Given the description of an element on the screen output the (x, y) to click on. 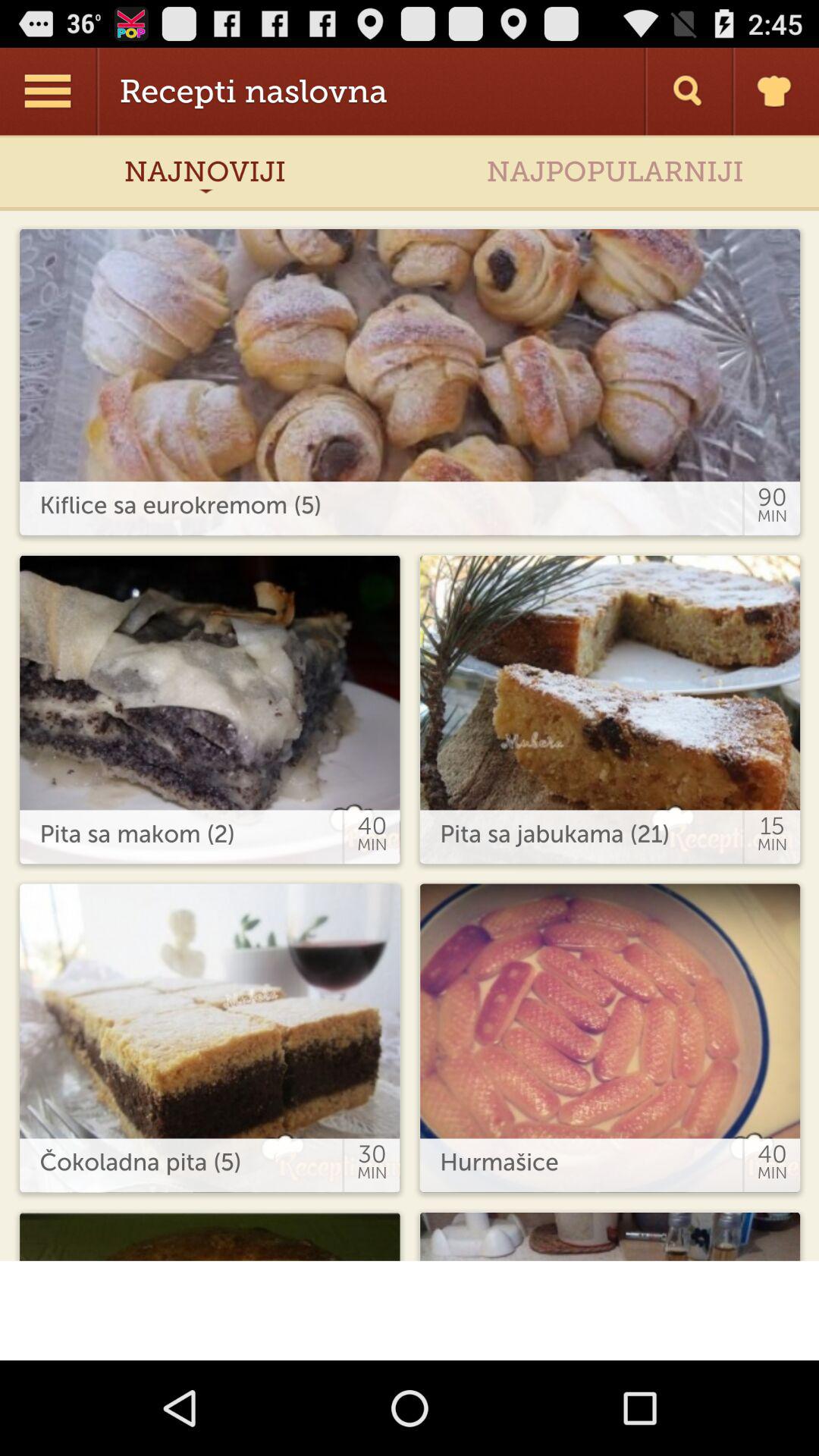
select menu (49, 91)
